Given the description of an element on the screen output the (x, y) to click on. 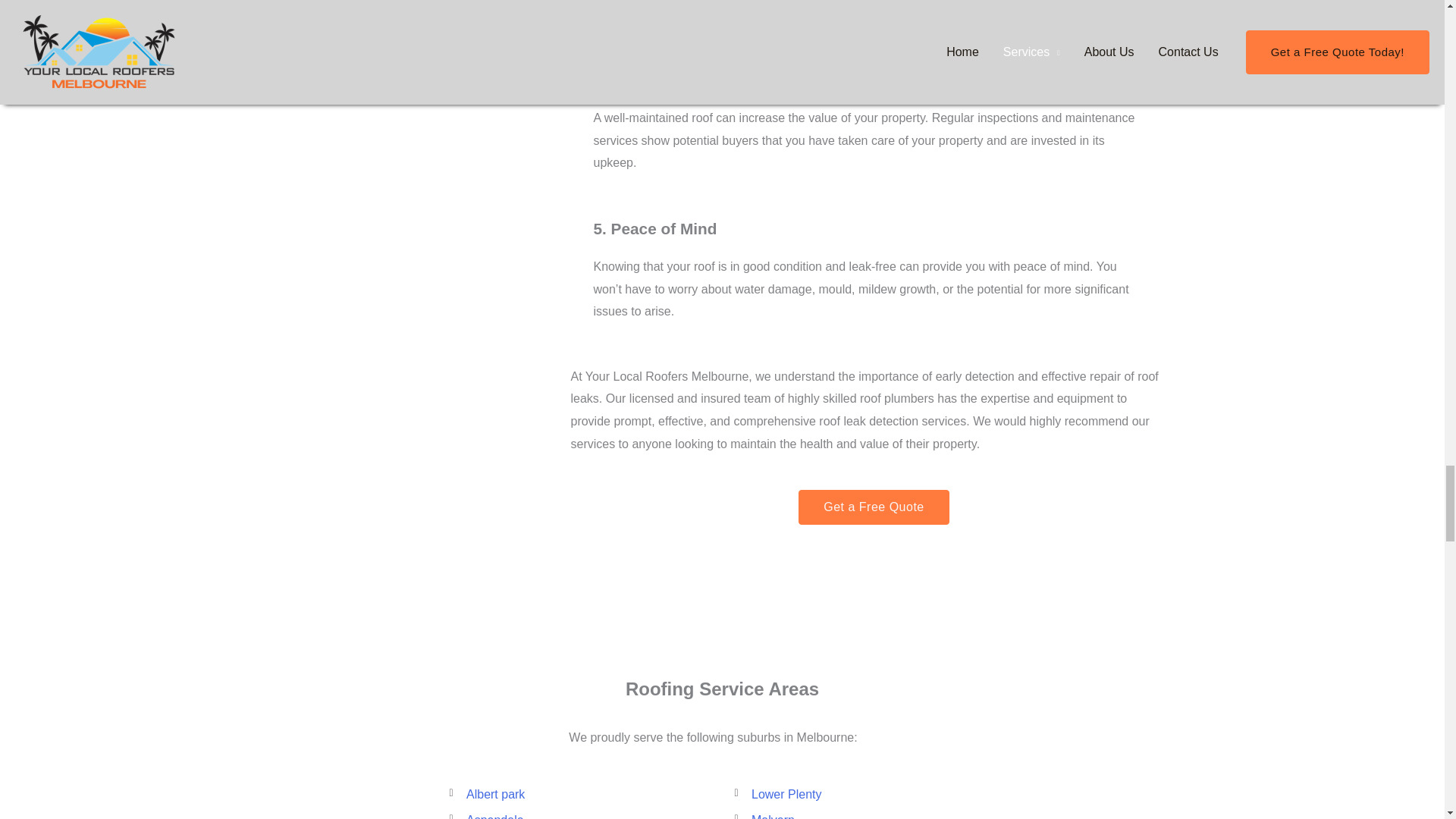
Get a Free Quote (873, 506)
Albert park (579, 793)
Aspendale (579, 814)
